Given the description of an element on the screen output the (x, y) to click on. 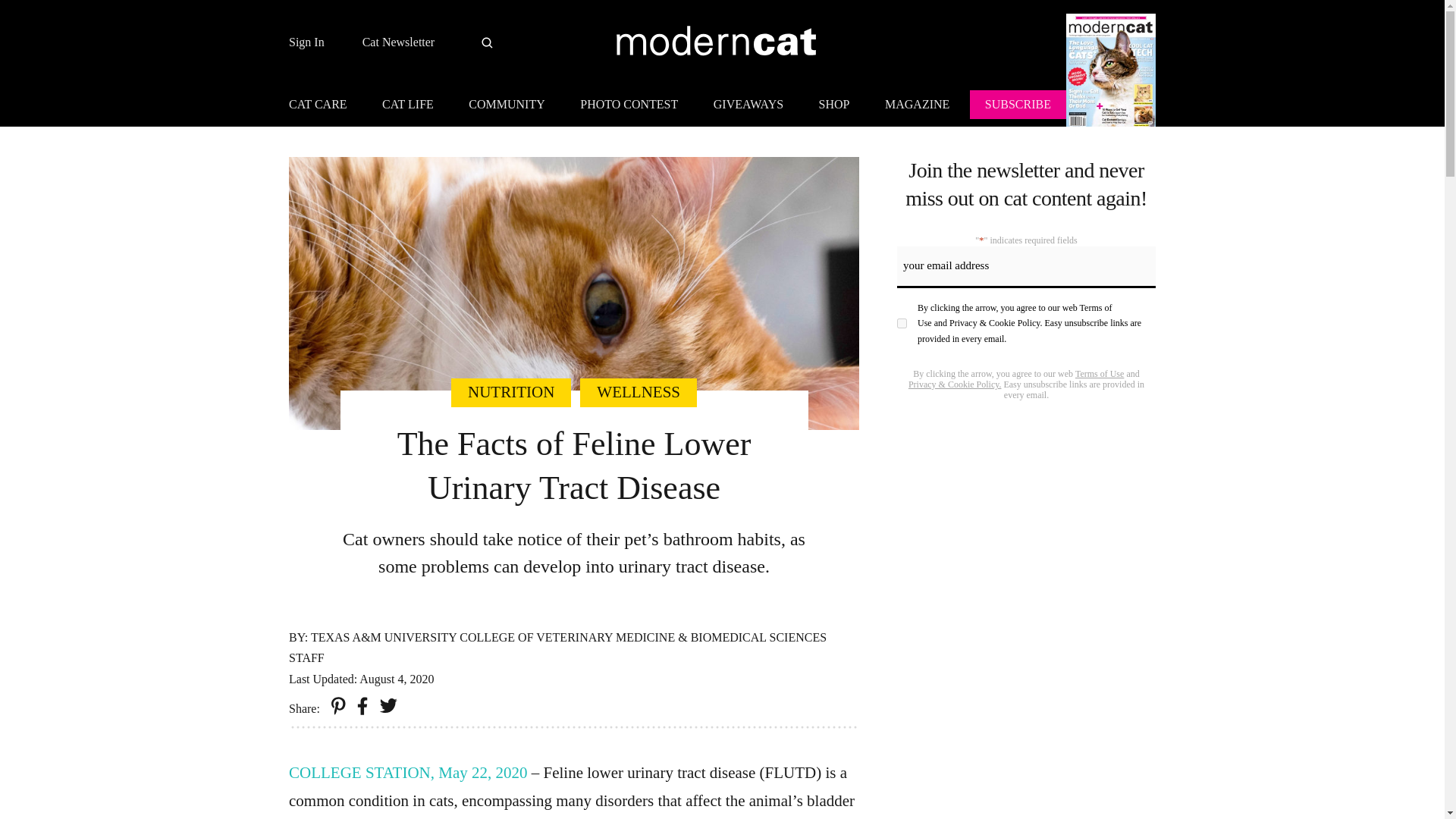
Sign In (306, 42)
Cat Newsletter (398, 42)
CAT CARE (325, 106)
CAT LIFE (407, 106)
